Given the description of an element on the screen output the (x, y) to click on. 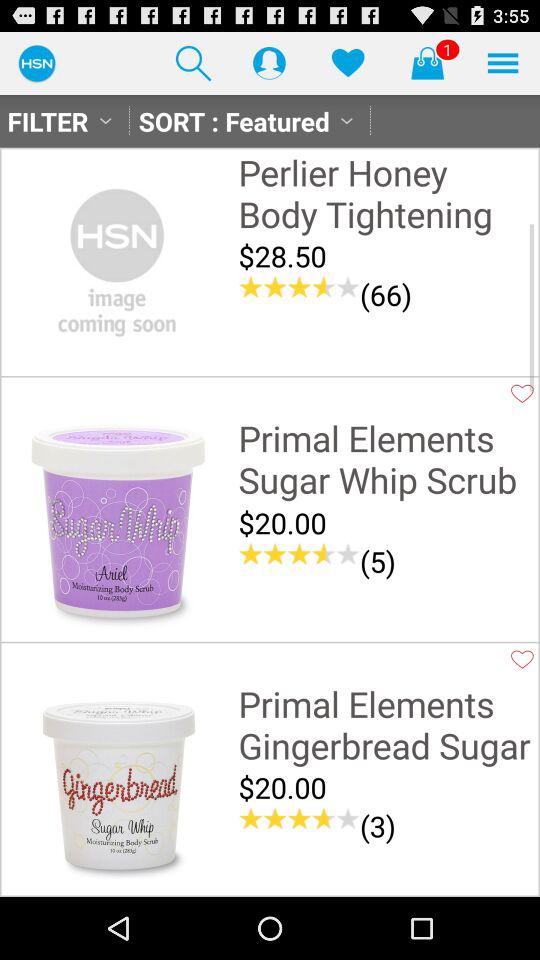
button to show shop (427, 62)
